Given the description of an element on the screen output the (x, y) to click on. 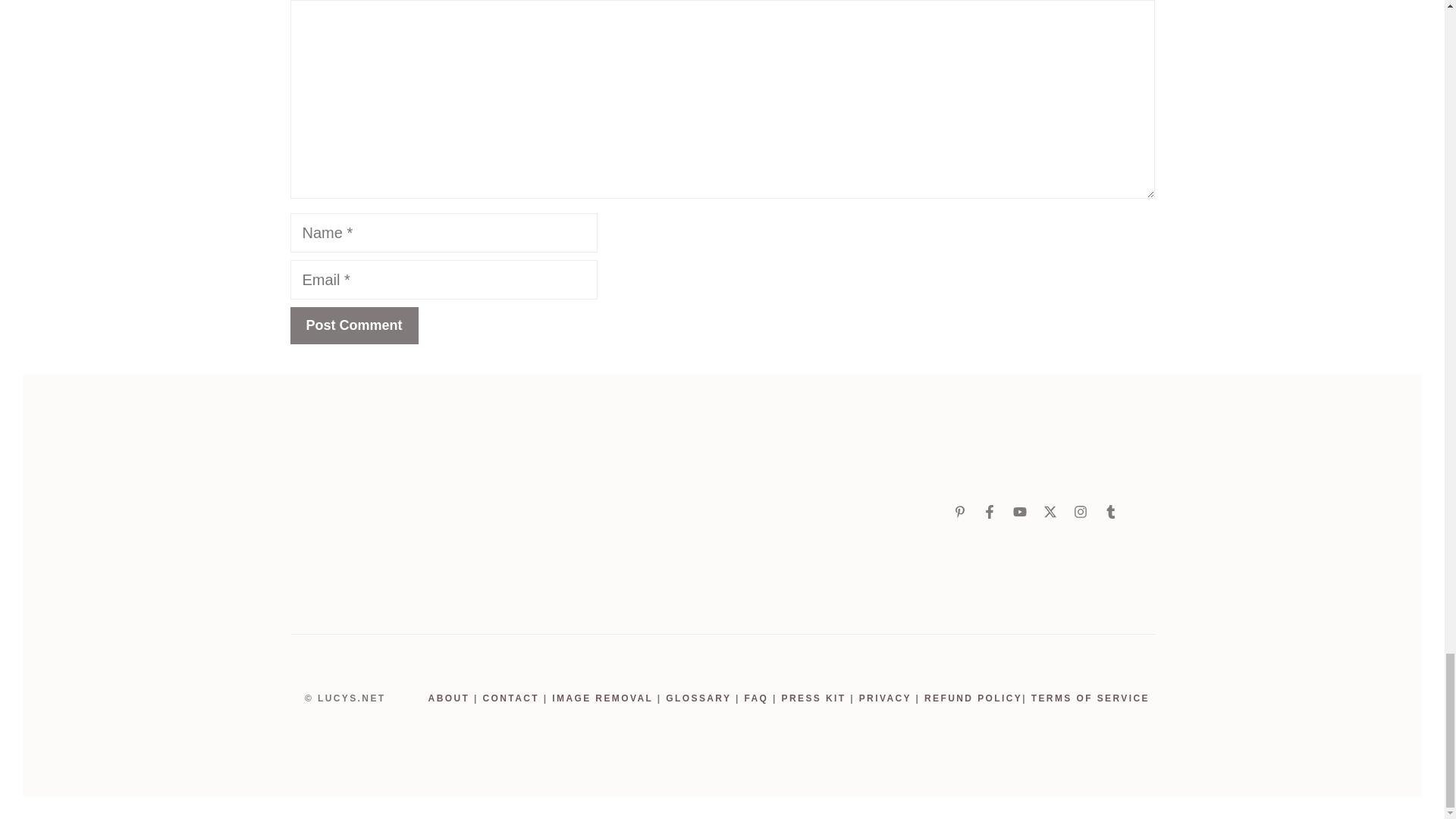
Post Comment (353, 325)
Post Comment (353, 325)
